Given the description of an element on the screen output the (x, y) to click on. 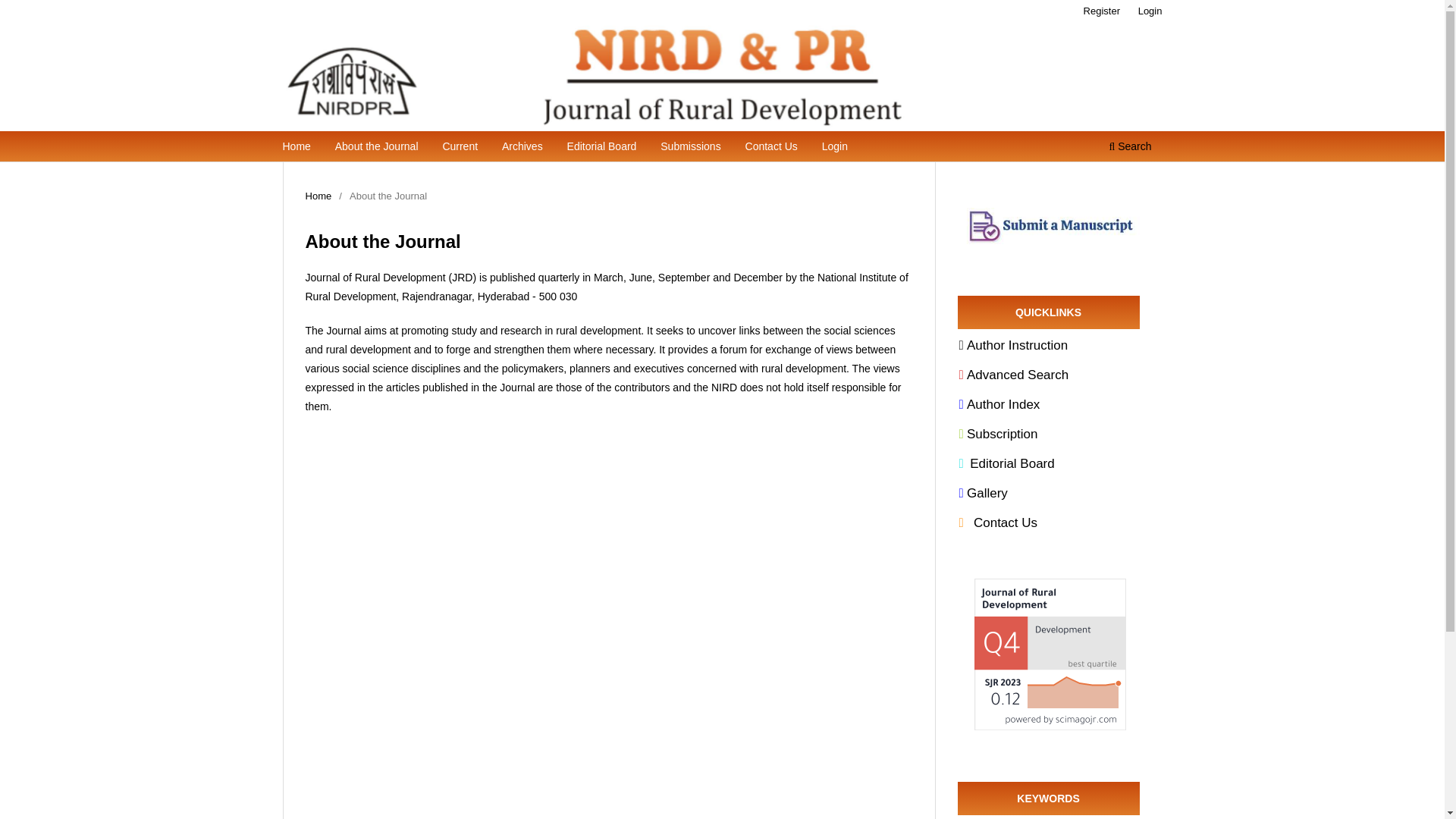
 Gallery (982, 493)
 Advanced Search (1013, 374)
 Editorial Board (1006, 463)
Login (1150, 11)
 Author Instruction (1012, 345)
Home (296, 148)
 Subscription (997, 433)
Login (834, 148)
Search (1129, 148)
  Contact Us (997, 522)
